Given the description of an element on the screen output the (x, y) to click on. 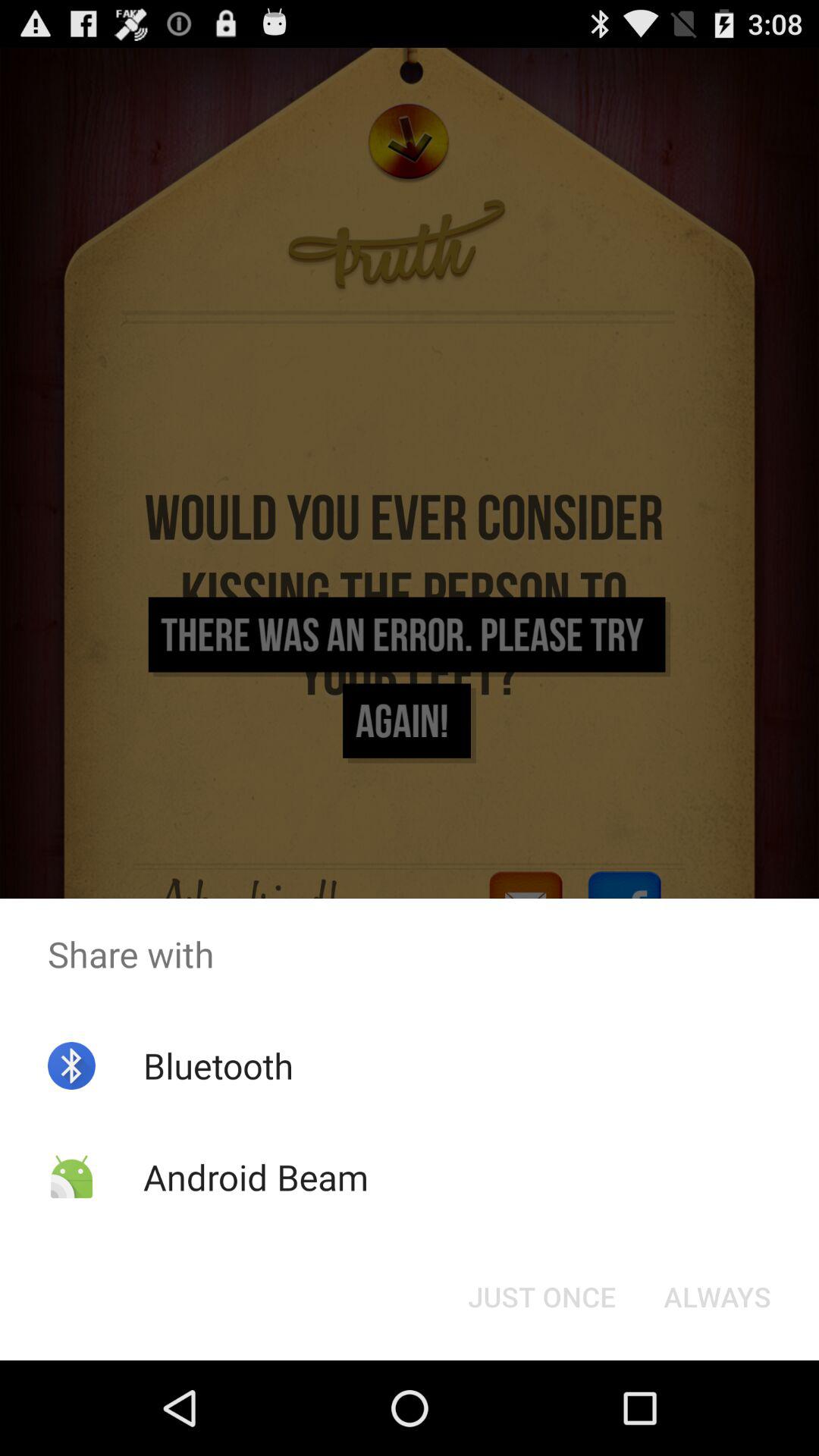
click item to the left of always icon (541, 1296)
